Given the description of an element on the screen output the (x, y) to click on. 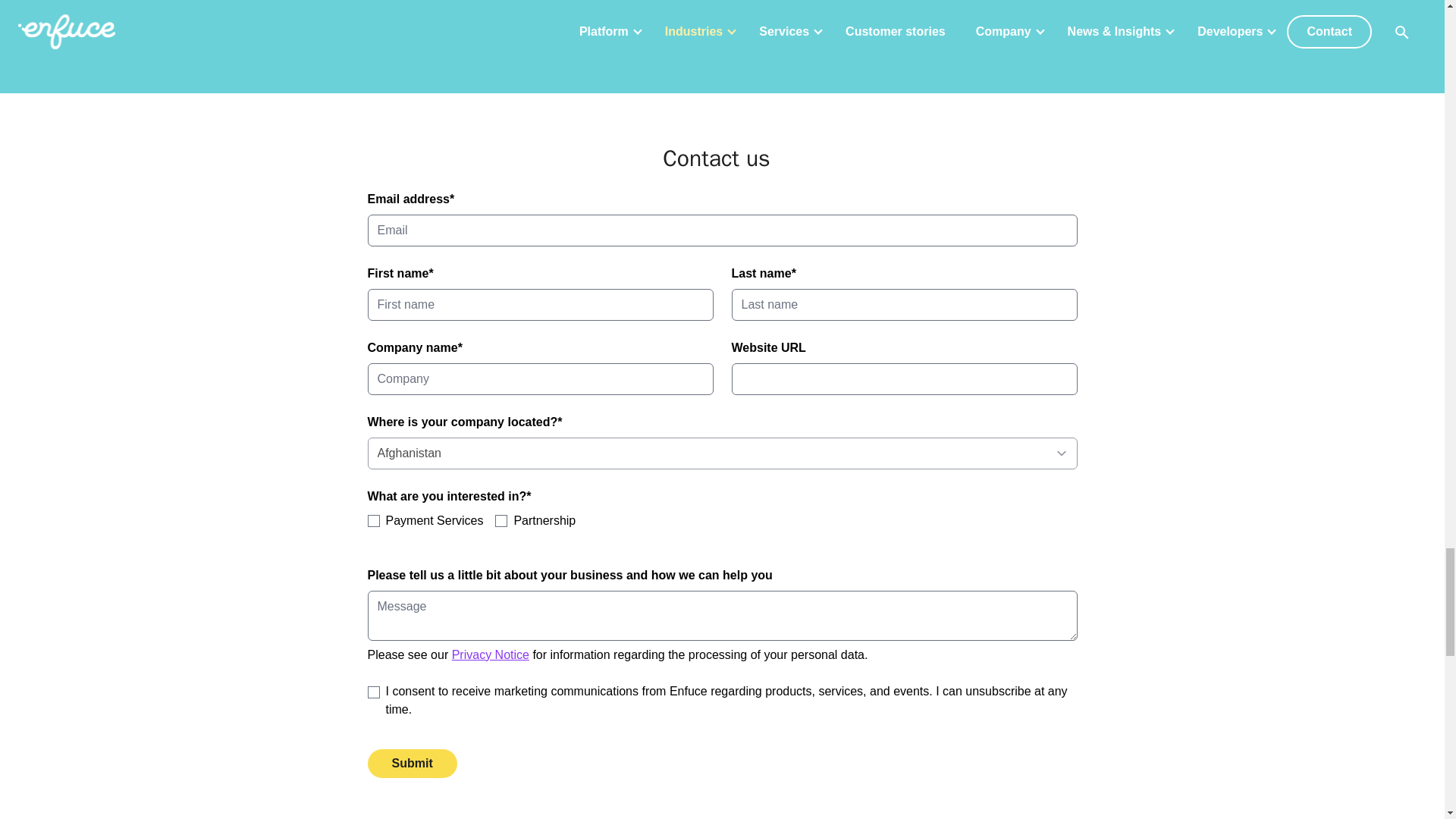
Submit (411, 763)
true (372, 692)
interestedinpaymentsservices (372, 521)
interestedinpartnership (500, 521)
